Given the description of an element on the screen output the (x, y) to click on. 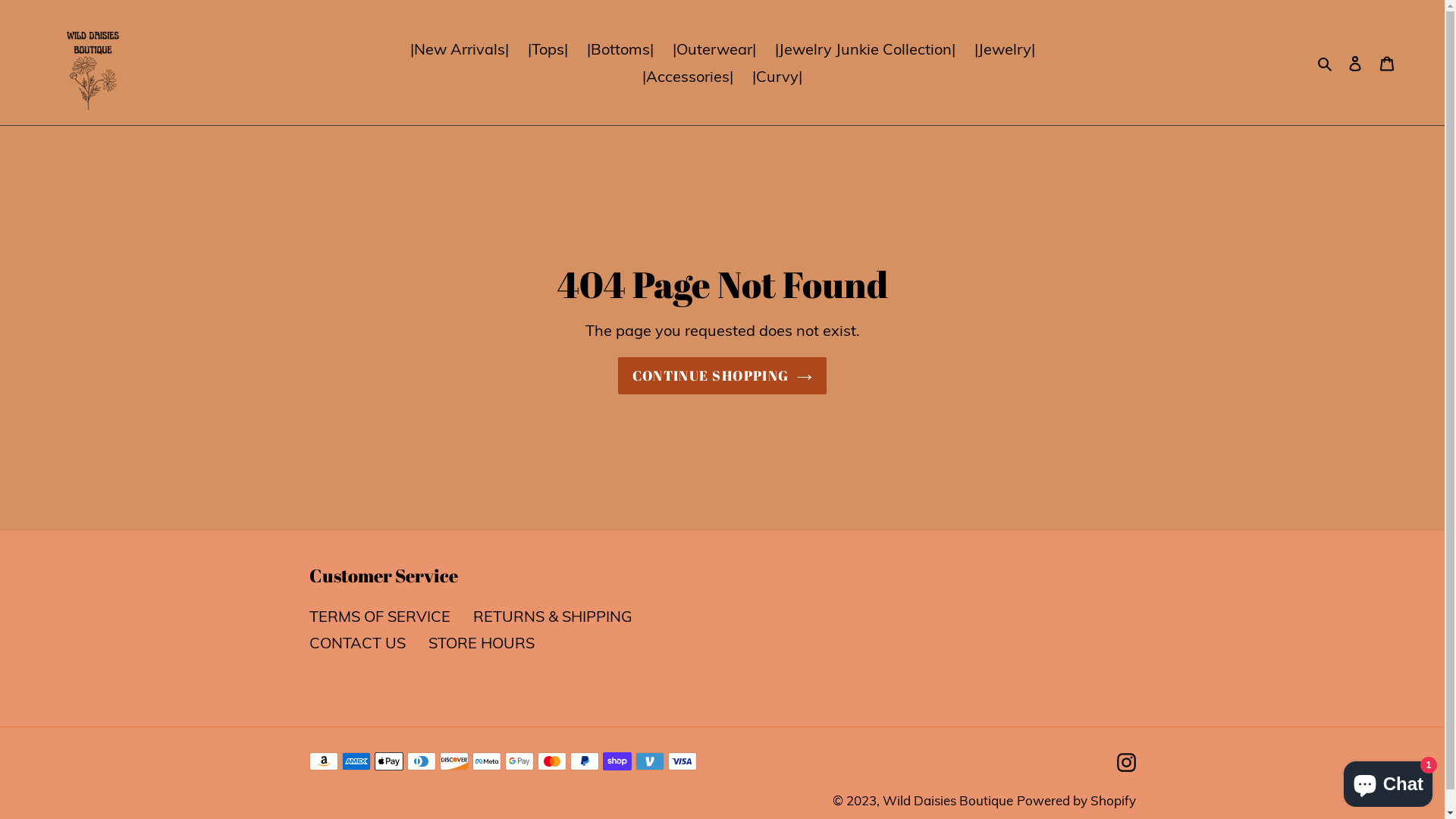
|Curvy| Element type: text (776, 75)
CONTINUE SHOPPING Element type: text (721, 375)
Search Element type: text (1325, 62)
|Bottoms| Element type: text (620, 48)
RETURNS & SHIPPING Element type: text (552, 615)
|Outerwear| Element type: text (713, 48)
Powered by Shopify Element type: text (1075, 800)
STORE HOURS Element type: text (480, 642)
|Jewelry Junkie Collection| Element type: text (865, 48)
TERMS OF SERVICE Element type: text (379, 615)
Shopify online store chat Element type: hover (1388, 780)
|New Arrivals| Element type: text (458, 48)
CONTACT US Element type: text (357, 642)
Log in Element type: text (1355, 62)
Cart Element type: text (1386, 62)
Wild Daisies Boutique Element type: text (947, 800)
|Tops| Element type: text (547, 48)
|Jewelry| Element type: text (1003, 48)
|Accessories| Element type: text (687, 75)
Instagram Element type: text (1125, 760)
